Given the description of an element on the screen output the (x, y) to click on. 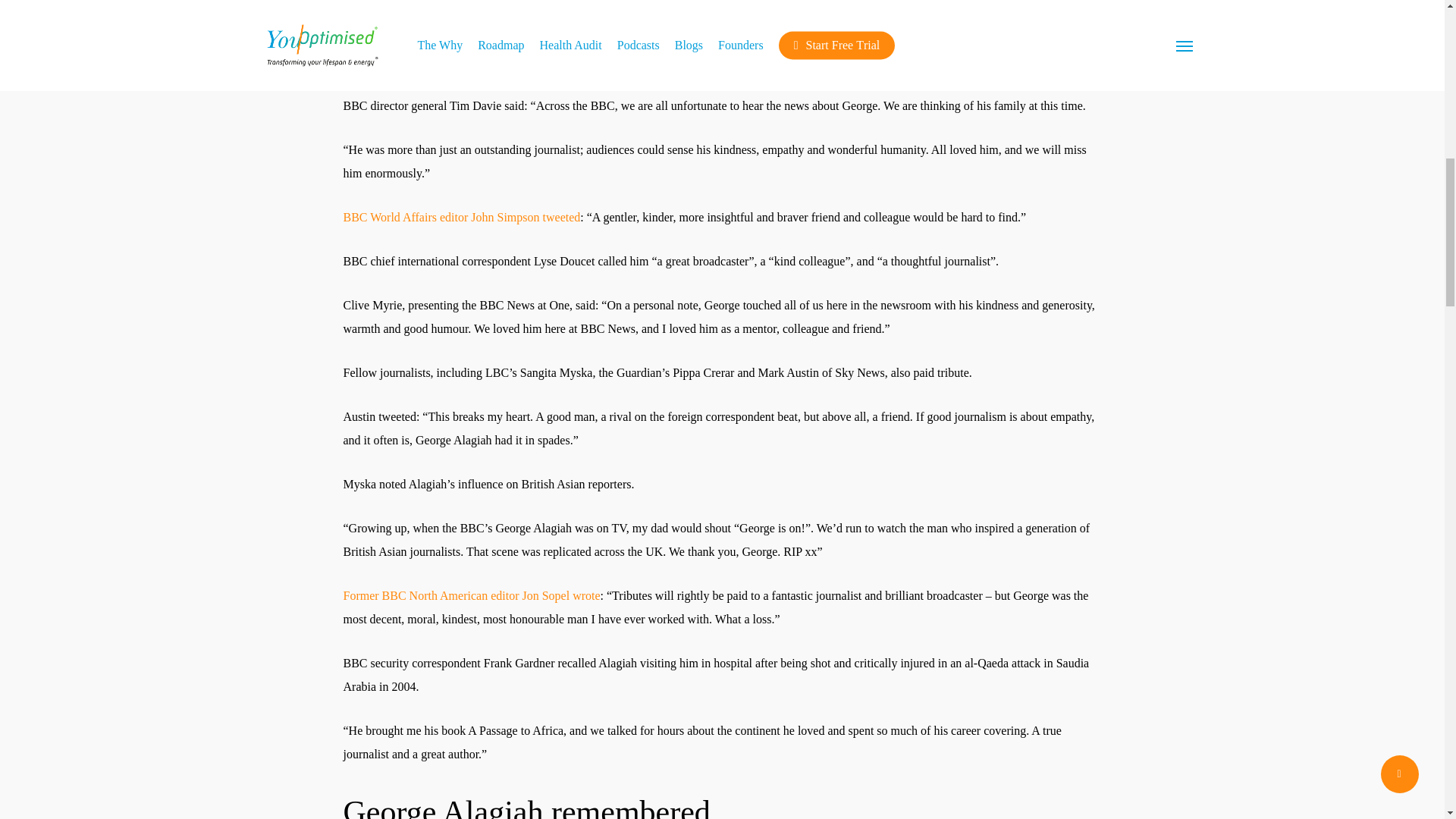
Former BBC North American editor Jon Sopel wrote (470, 594)
BBC World Affairs editor John Simpson tweeted (460, 216)
